Given the description of an element on the screen output the (x, y) to click on. 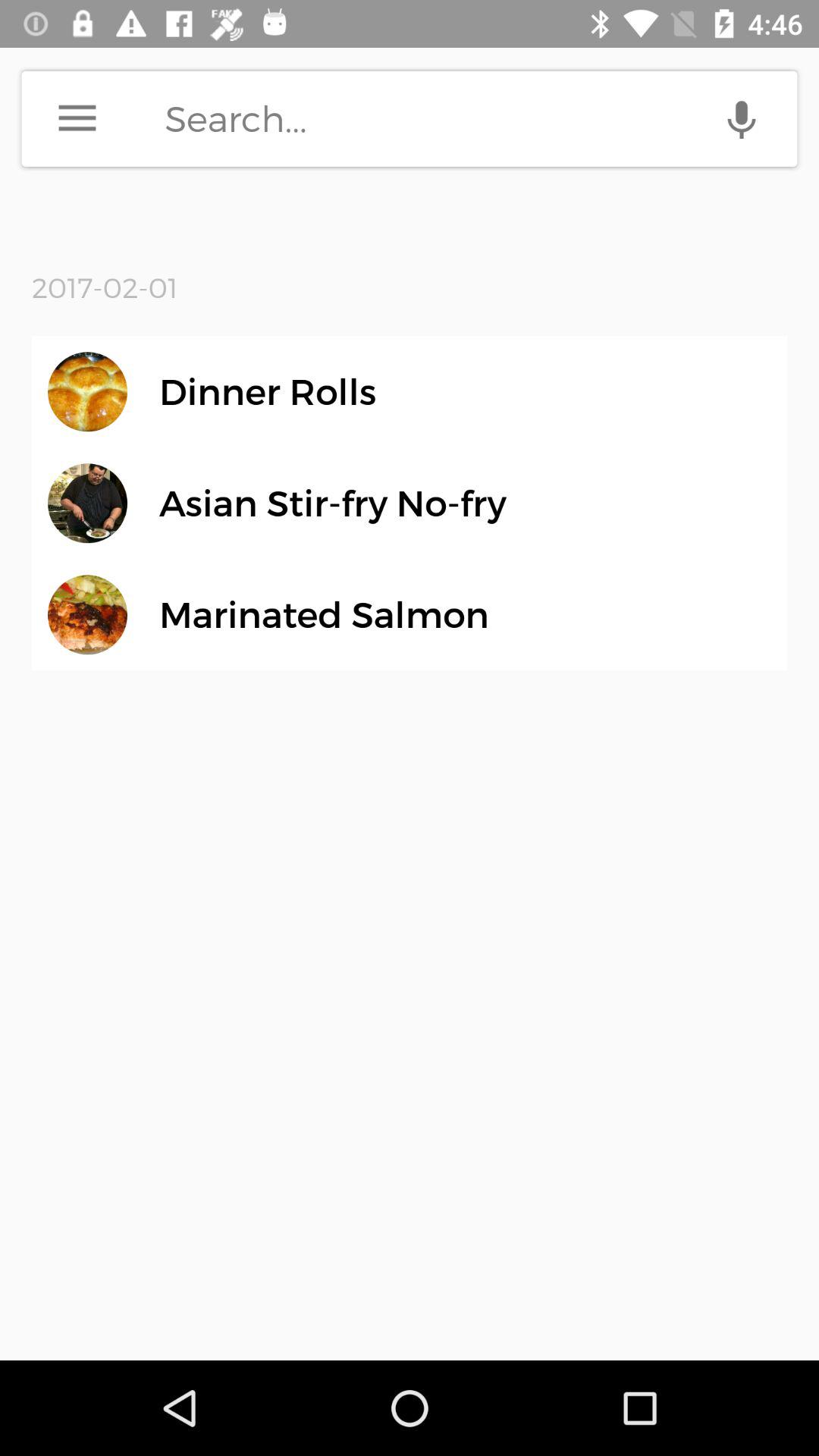
voice search (741, 118)
